Given the description of an element on the screen output the (x, y) to click on. 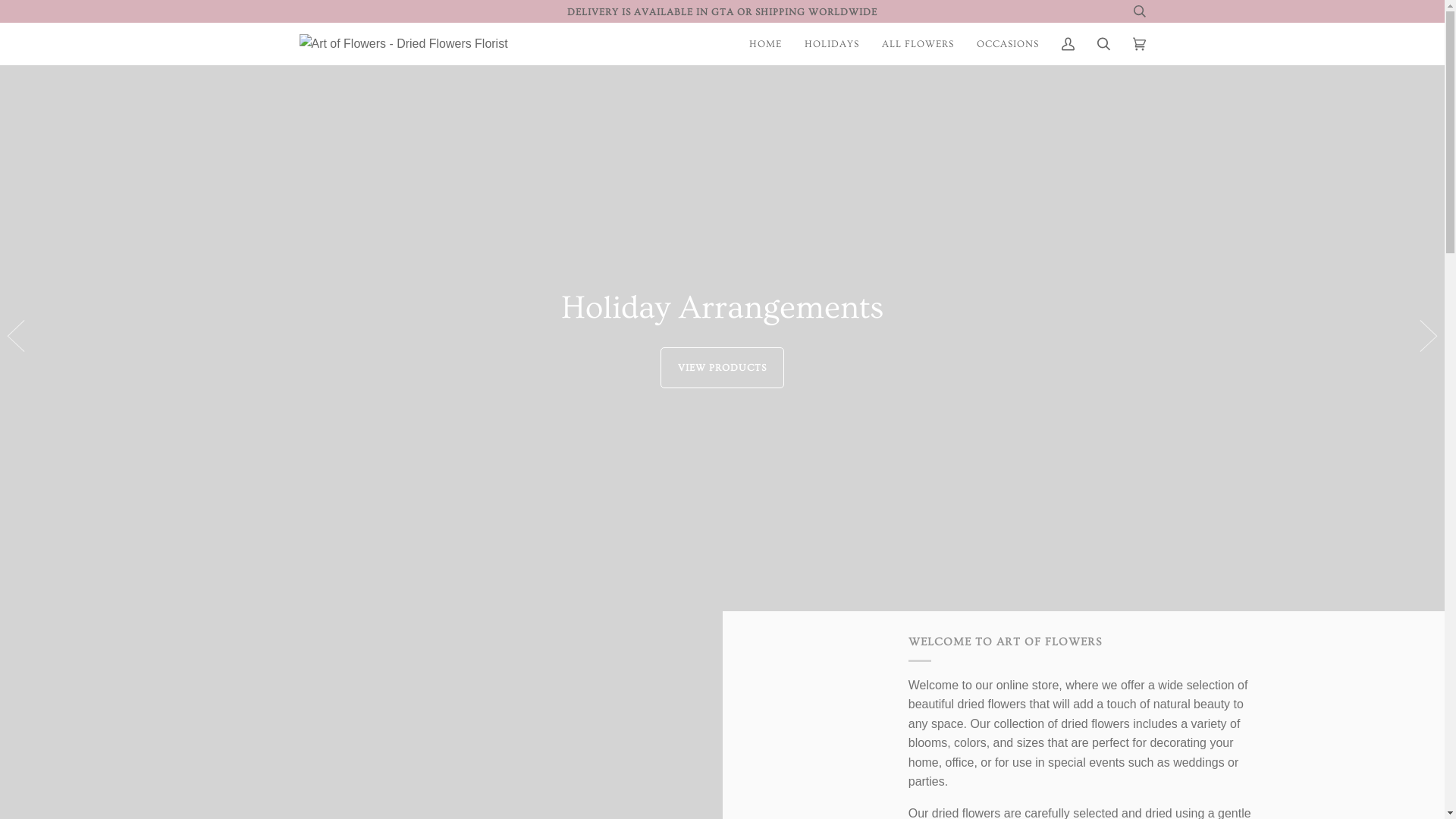
Search Element type: text (1103, 43)
VIEW PRODUCTS Element type: text (722, 367)
OCCASIONS Element type: text (1006, 43)
HOME Element type: text (764, 43)
ALL FLOWERS Element type: text (917, 43)
HOLIDAYS Element type: text (831, 43)
Cart
(0) Element type: text (1138, 43)
My Account Element type: text (1067, 43)
